Given the description of an element on the screen output the (x, y) to click on. 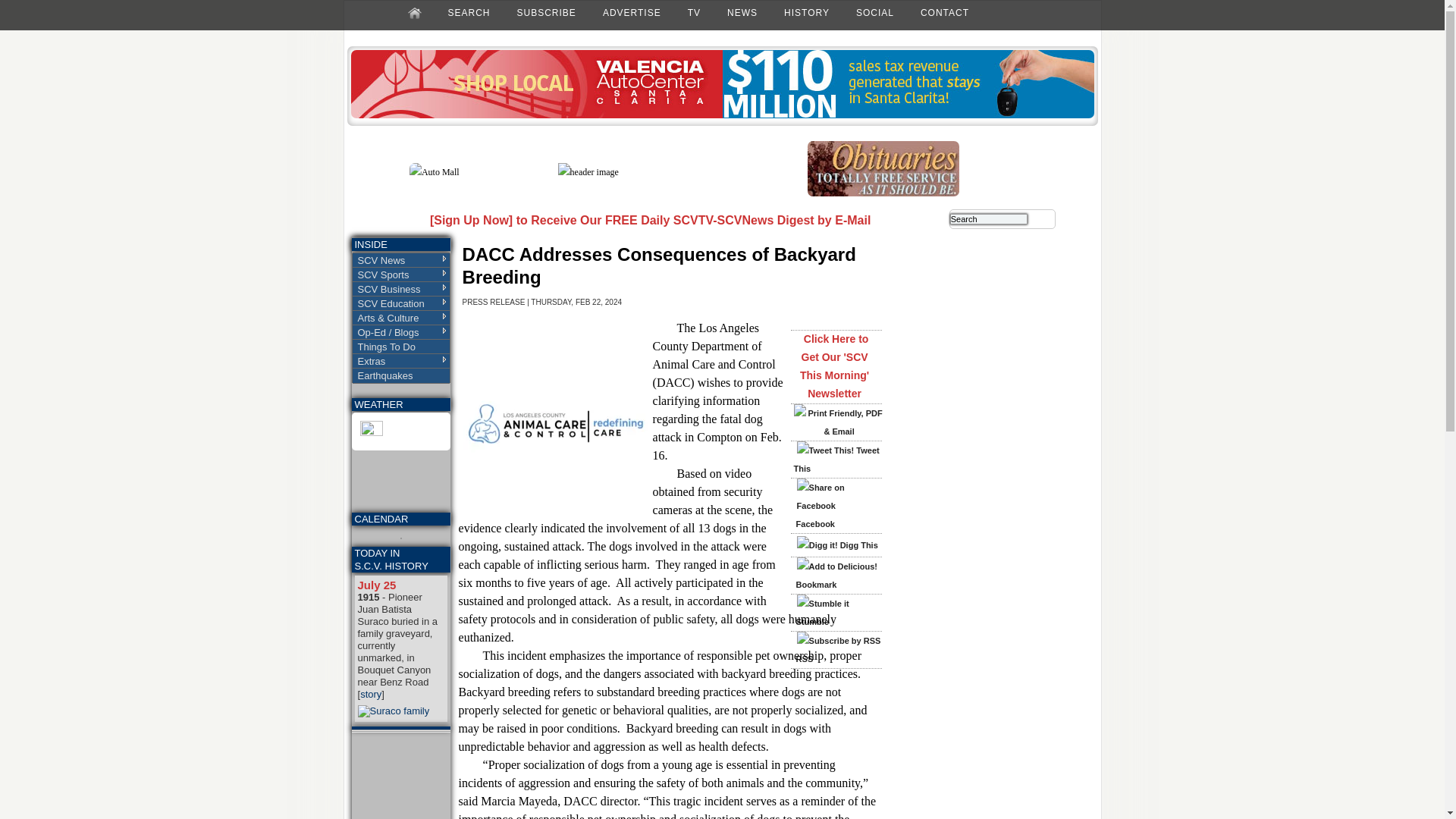
Posts by Press Release (494, 302)
NEWS (742, 12)
ADVERTISE (631, 12)
Auto Mall (434, 172)
Search (988, 218)
TV (693, 12)
SEARCH (468, 12)
Auto Mall (721, 114)
SUBSCRIBE (546, 12)
Obituaries (883, 193)
